Given the description of an element on the screen output the (x, y) to click on. 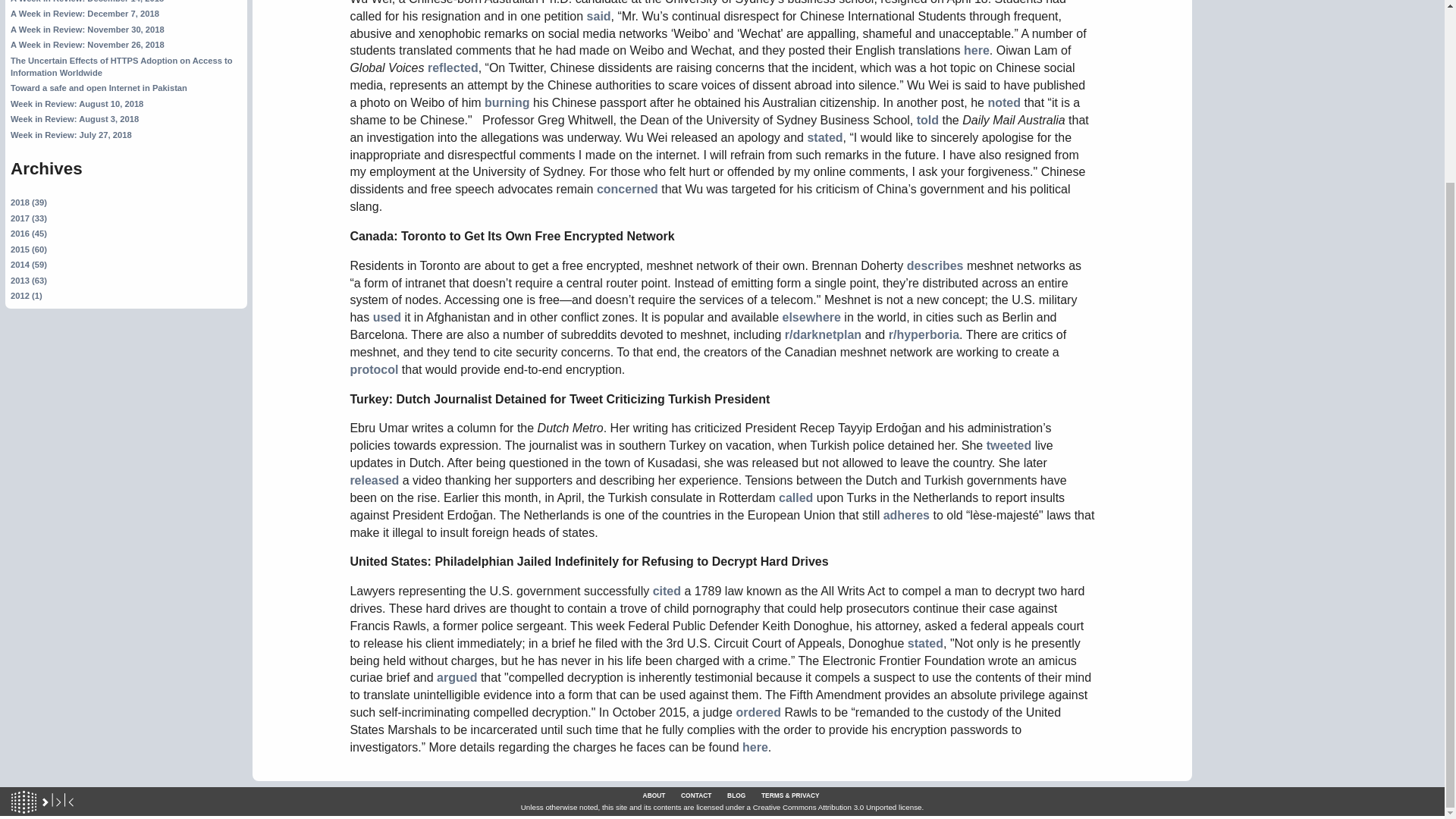
A Week in Review: December 7, 2018 (84, 13)
A Week in Review: November 30, 2018 (87, 29)
A Week in Review: December 14, 2018 (86, 1)
